Given the description of an element on the screen output the (x, y) to click on. 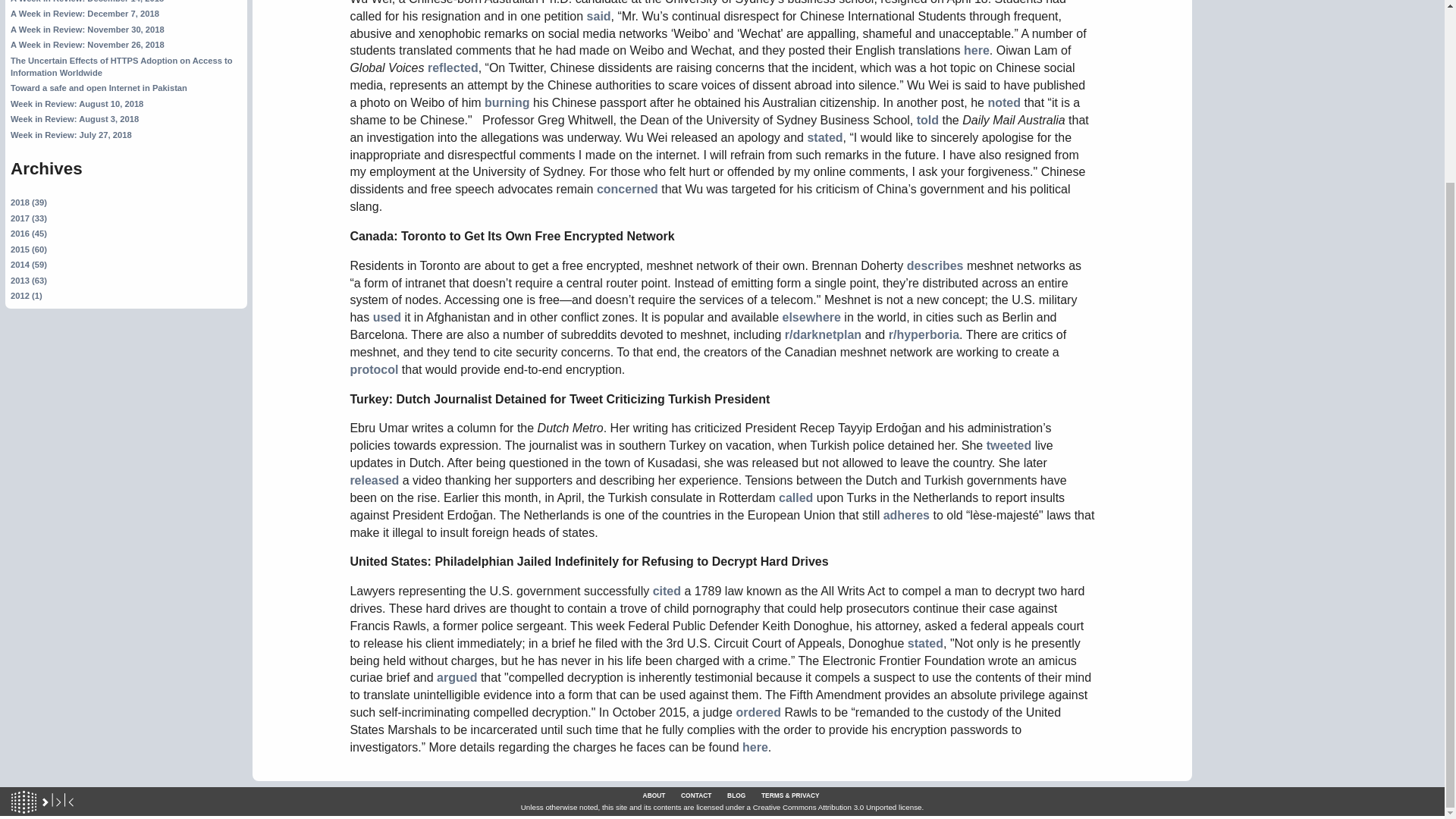
A Week in Review: December 7, 2018 (84, 13)
A Week in Review: November 30, 2018 (87, 29)
A Week in Review: December 14, 2018 (86, 1)
